Given the description of an element on the screen output the (x, y) to click on. 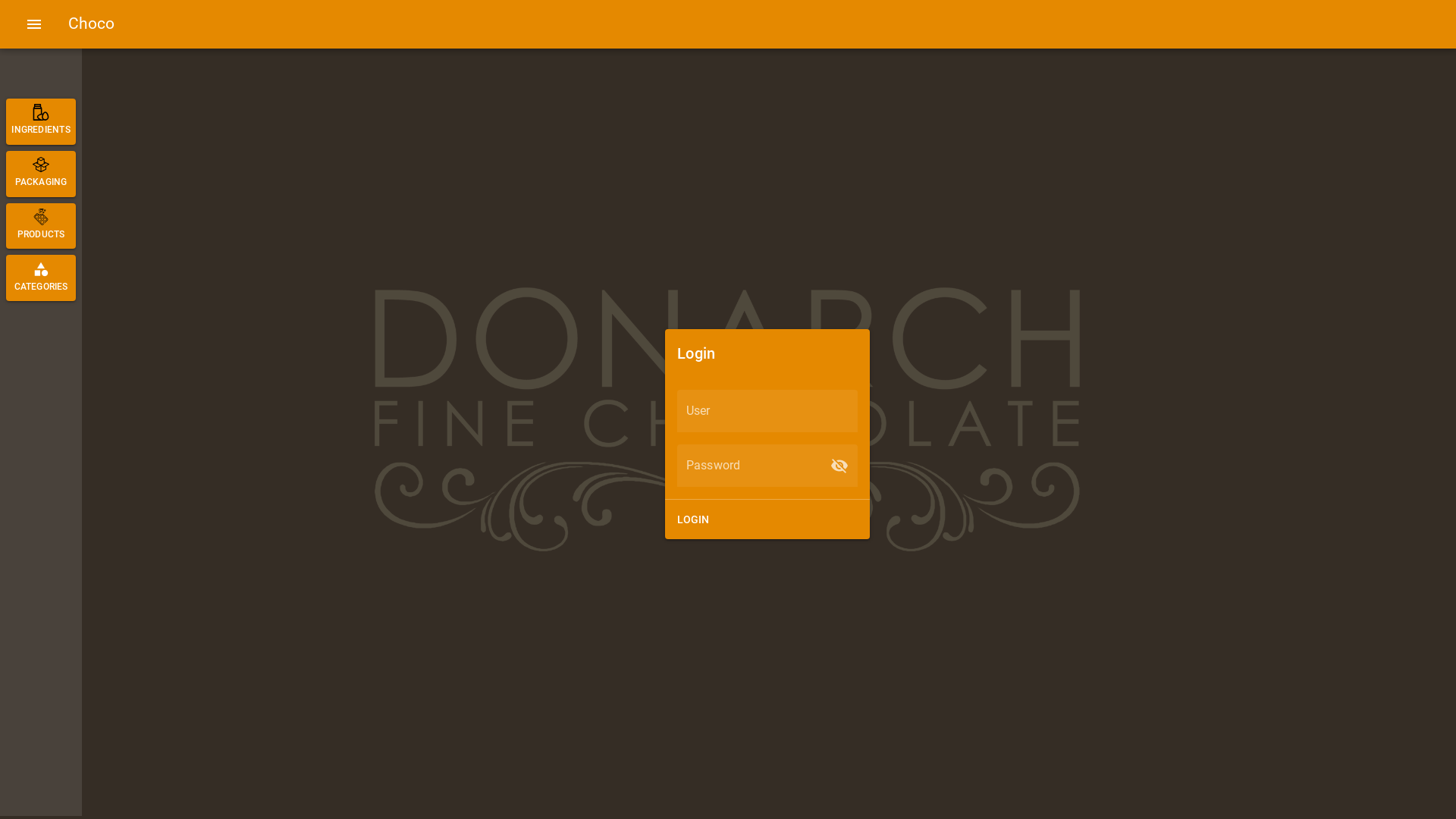
PRODUCTS Element type: text (40, 226)
LOGIN Element type: text (693, 518)
menu Element type: text (34, 24)
INGREDIENTS Element type: text (40, 121)
category
CATEGORIES Element type: text (40, 277)
PACKAGING Element type: text (40, 173)
